Given the description of an element on the screen output the (x, y) to click on. 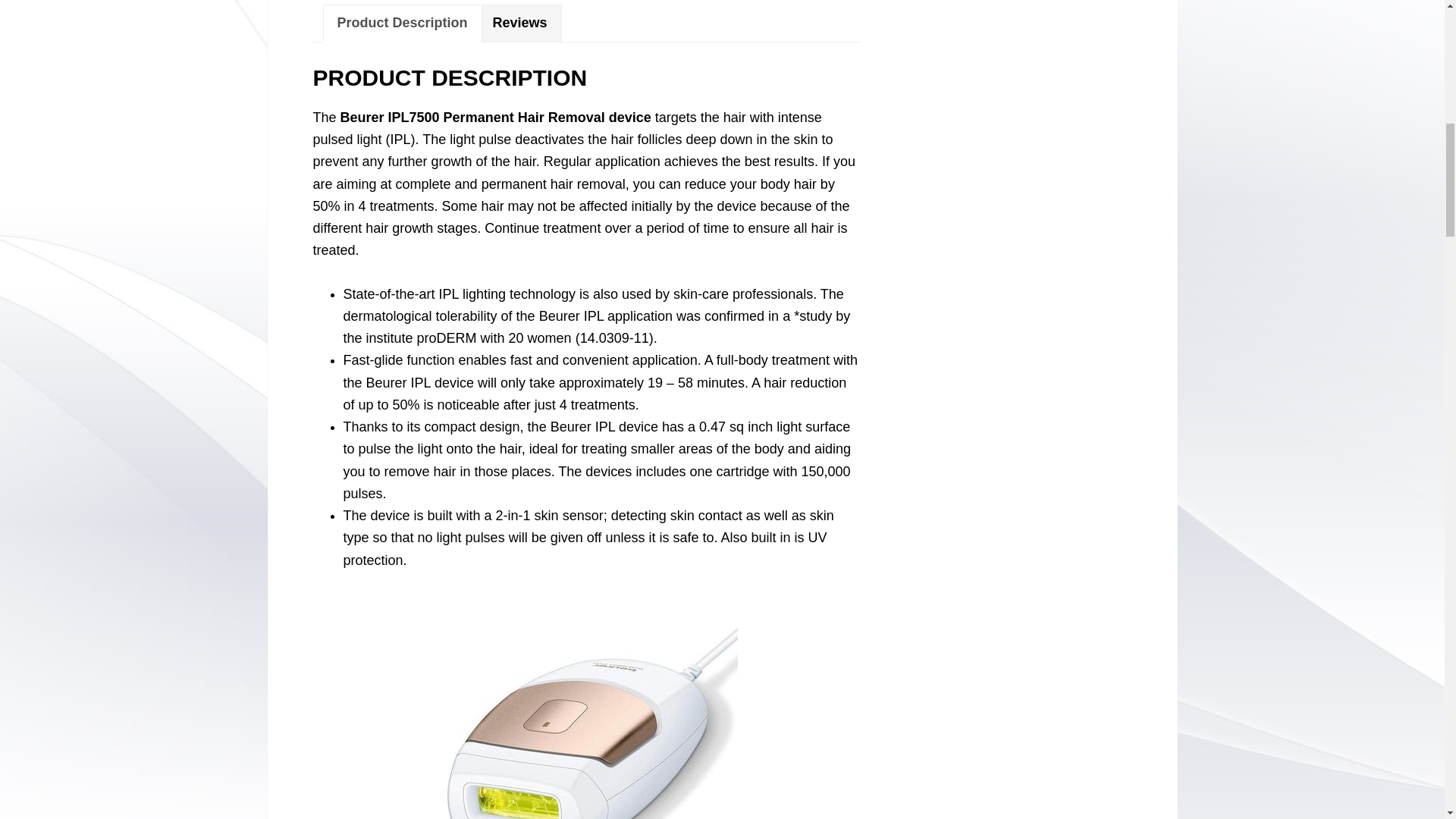
Reviews (519, 22)
Product Description (401, 22)
